Given the description of an element on the screen output the (x, y) to click on. 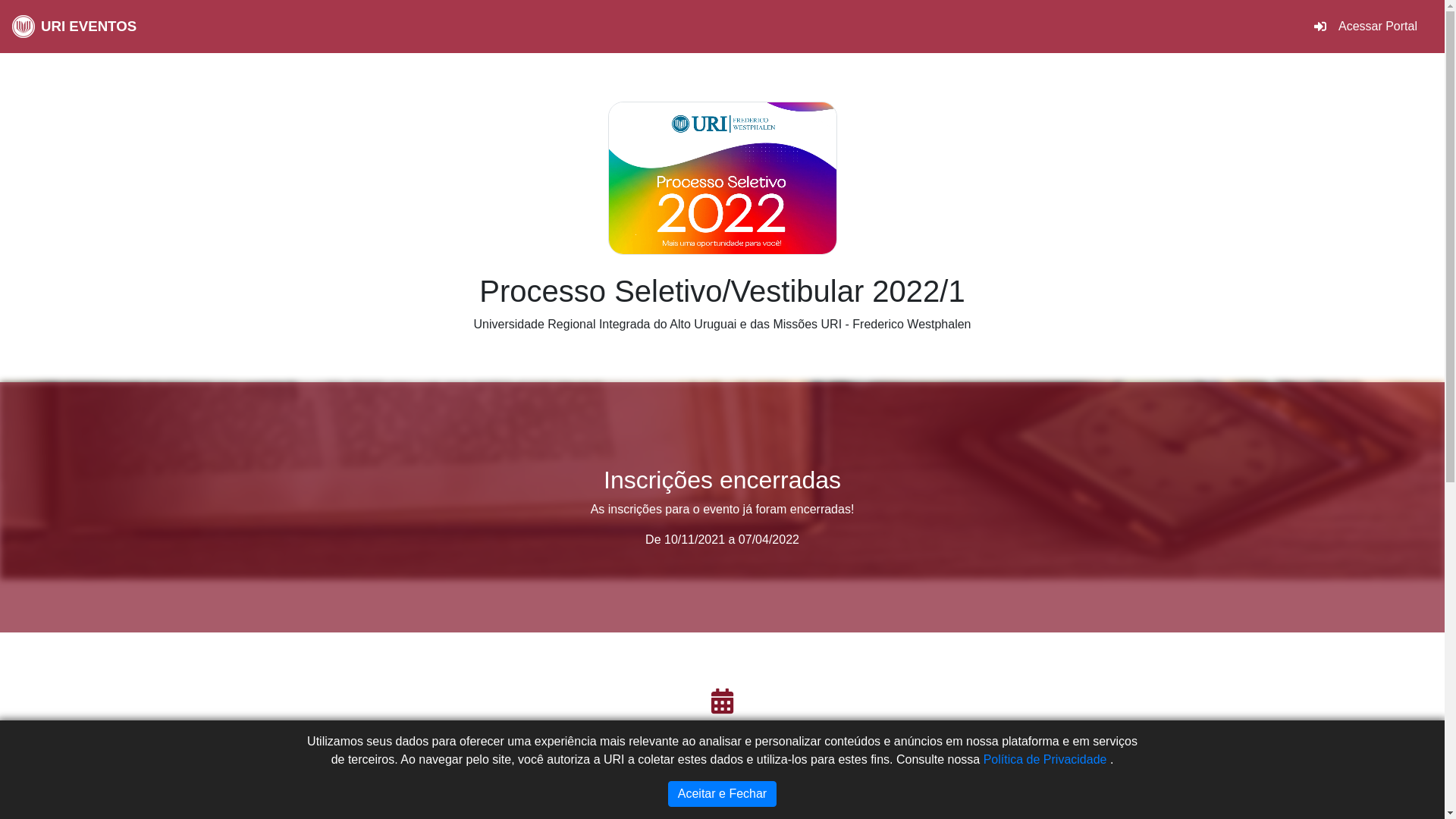
URI EVENTOS Element type: text (74, 26)
Aceitar e Fechar Element type: text (722, 793)
Acessar Portal Element type: text (1365, 26)
